Given the description of an element on the screen output the (x, y) to click on. 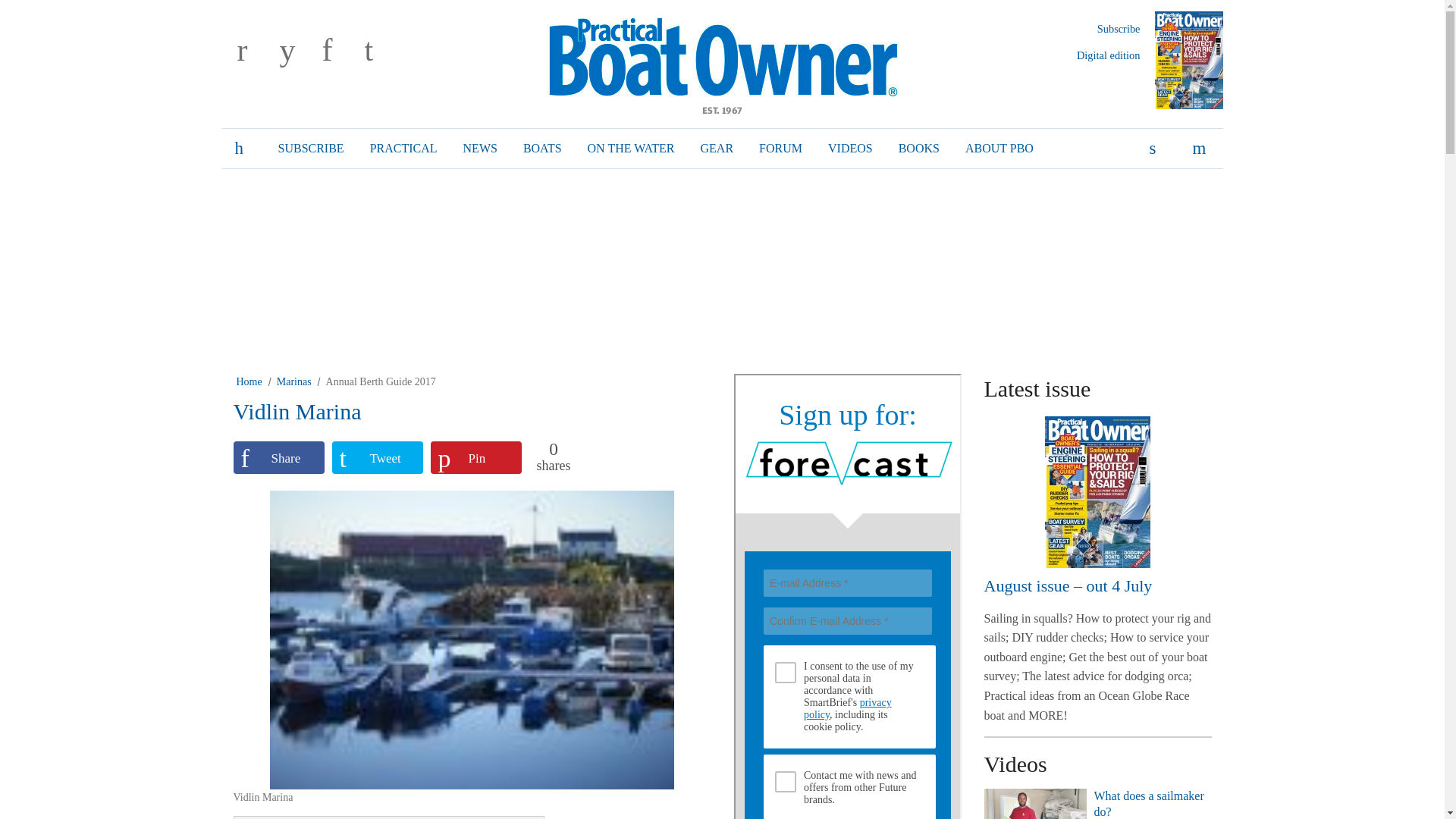
Digital edition (1108, 55)
Subscribe (1118, 28)
NEWS (480, 148)
Digital edition (1108, 55)
BOATS (543, 148)
y (297, 52)
VIDEOS (850, 148)
BOOKS (918, 148)
ON THE WATER (631, 148)
Home (248, 381)
Marinas (293, 381)
GEAR (716, 148)
r (254, 52)
t (382, 52)
ABOUT PBO (999, 148)
